Given the description of an element on the screen output the (x, y) to click on. 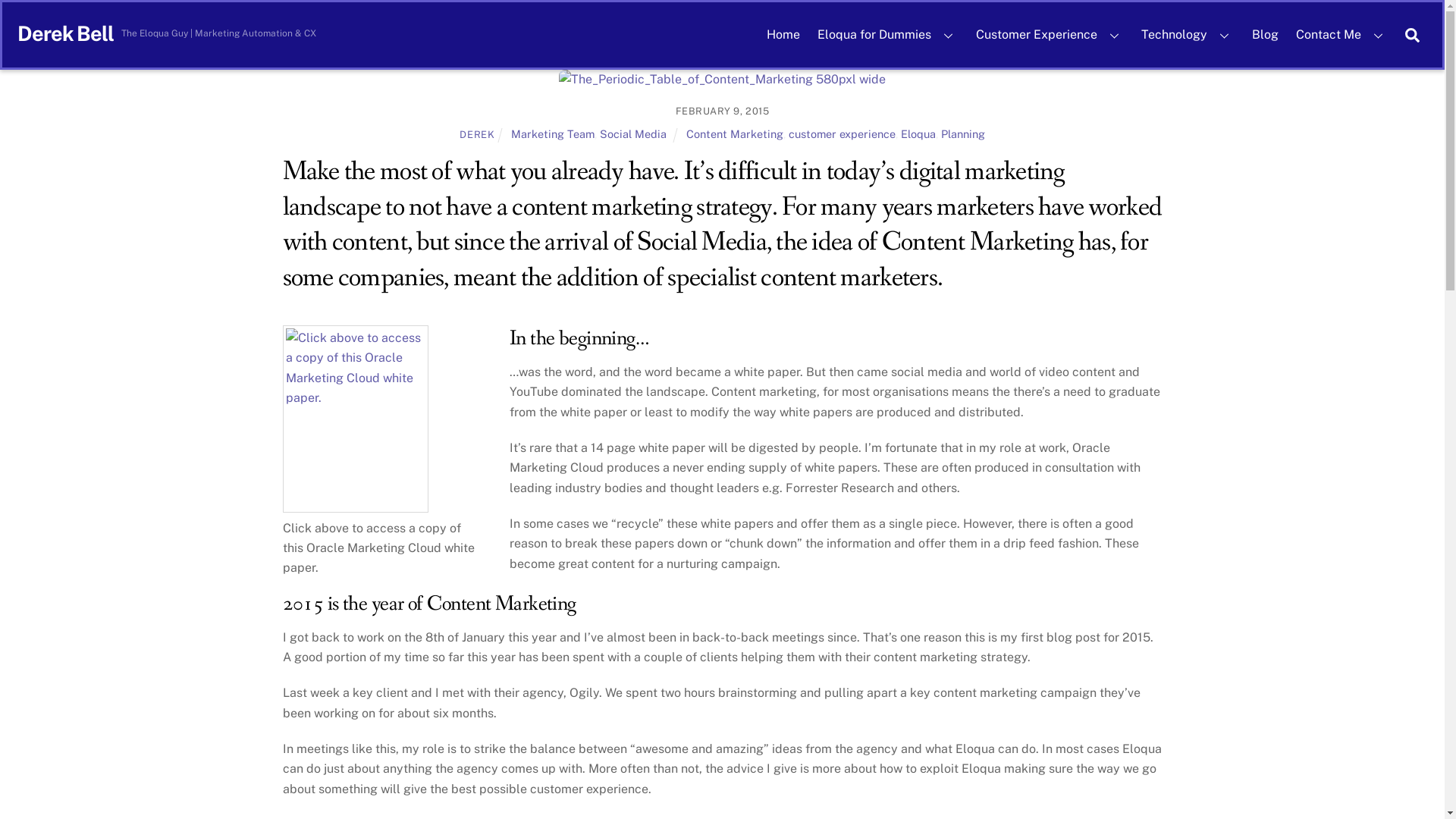
DEREK Element type: text (476, 134)
Customer Experience Element type: text (1049, 34)
Planning Element type: text (963, 133)
Social Media Element type: text (632, 133)
Technology Element type: text (1188, 34)
Content Marketing Element type: text (734, 133)
Search Element type: text (1412, 34)
Contact Me Element type: text (1341, 34)
The_Periodic_Table_of_Content_Marketing 580pxl wide Element type: hover (721, 79)
Eloqua Element type: text (917, 133)
Marketing Team Element type: text (552, 133)
Home Element type: text (782, 34)
Eloqua for Dummies Element type: text (887, 34)
customer experience Element type: text (841, 133)
Derek Bell Element type: text (65, 33)
Blog Element type: text (1264, 34)
